Given the description of an element on the screen output the (x, y) to click on. 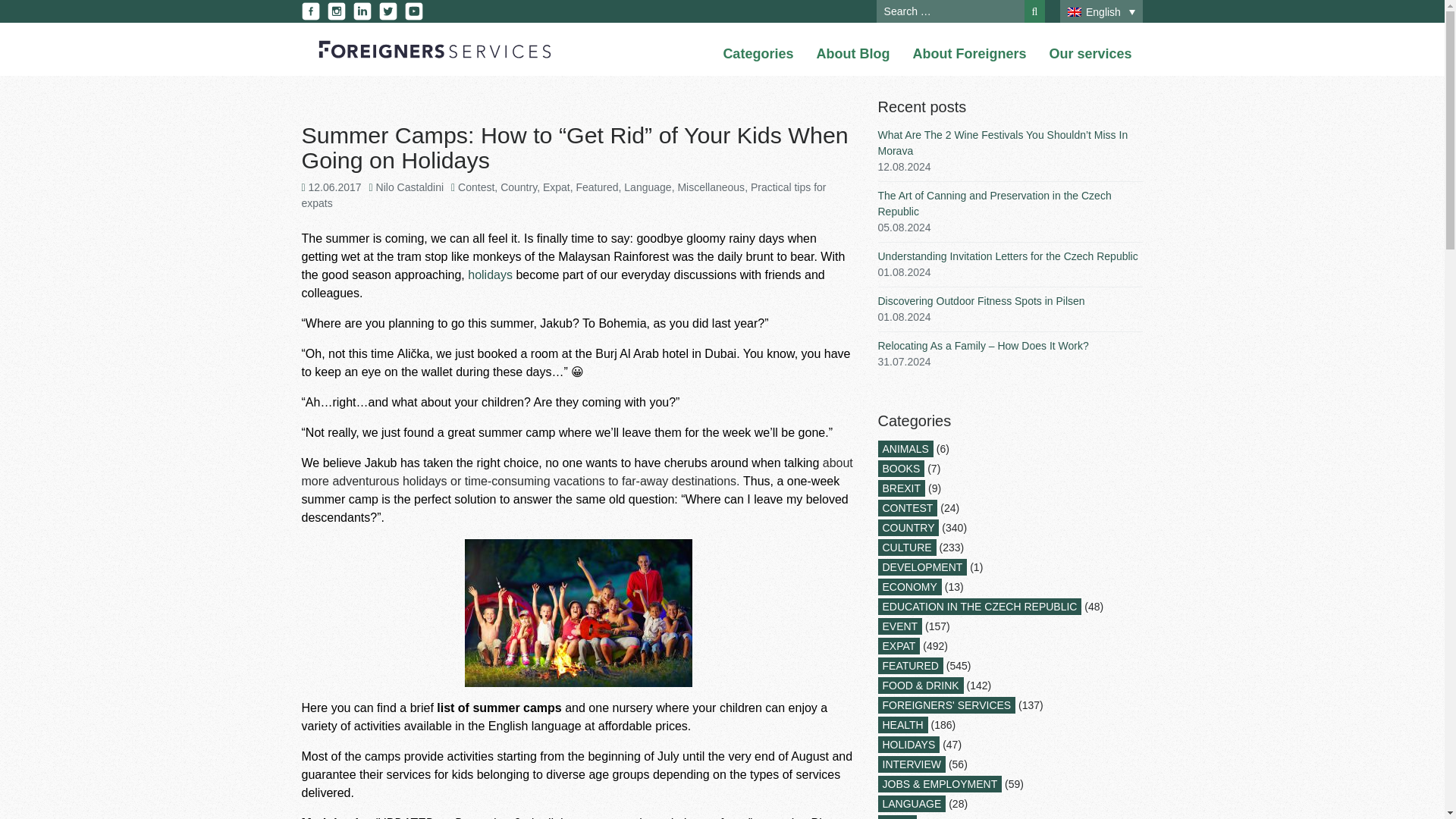
Our services (1089, 54)
Featured (597, 186)
Expat (556, 186)
The Art of Canning and Preservation in the Czech Republic (994, 203)
Categories (757, 54)
BREXIT (901, 487)
About Blog (852, 54)
12.06.2017 (334, 186)
English (1100, 11)
Nilo Castaldini (409, 186)
